Given the description of an element on the screen output the (x, y) to click on. 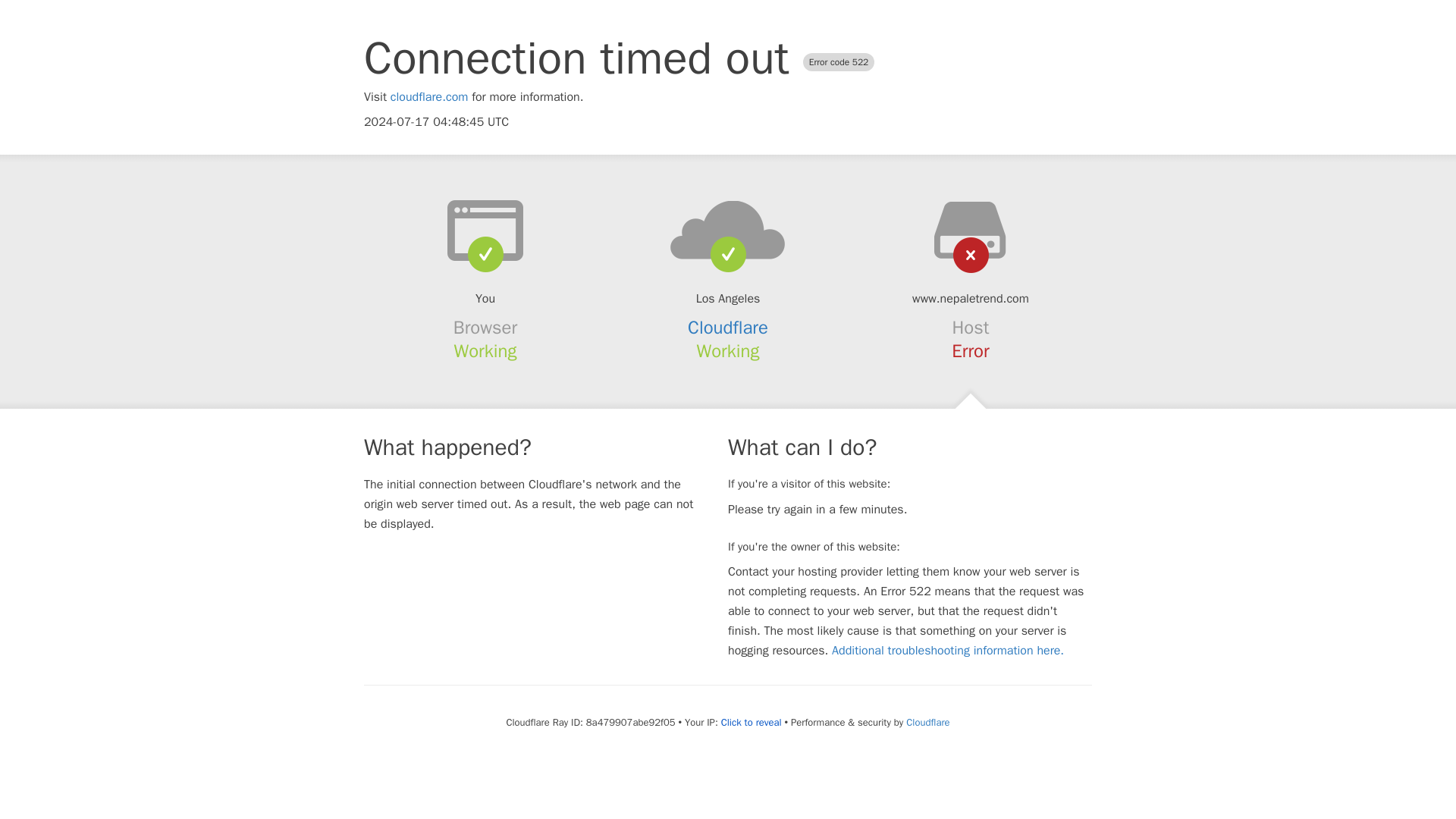
cloudflare.com (429, 96)
Cloudflare (727, 327)
Additional troubleshooting information here. (947, 650)
Click to reveal (750, 722)
Cloudflare (927, 721)
